Given the description of an element on the screen output the (x, y) to click on. 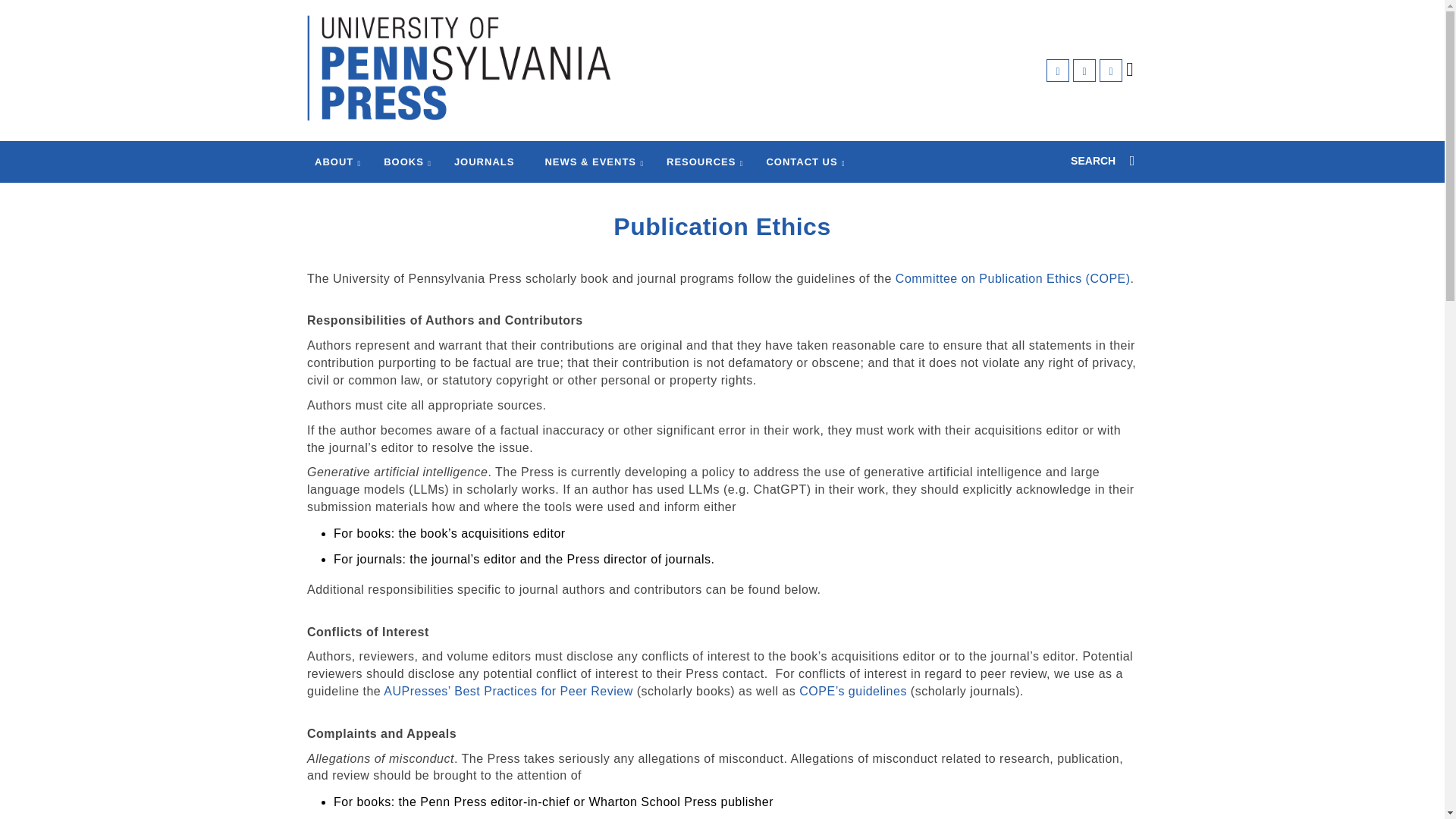
ABOUT (333, 161)
BOOKS (403, 161)
Follow us on Instagram (1110, 69)
RESOURCES (700, 161)
Follow us on Facebook (1057, 69)
JOURNALS (484, 161)
